Given the description of an element on the screen output the (x, y) to click on. 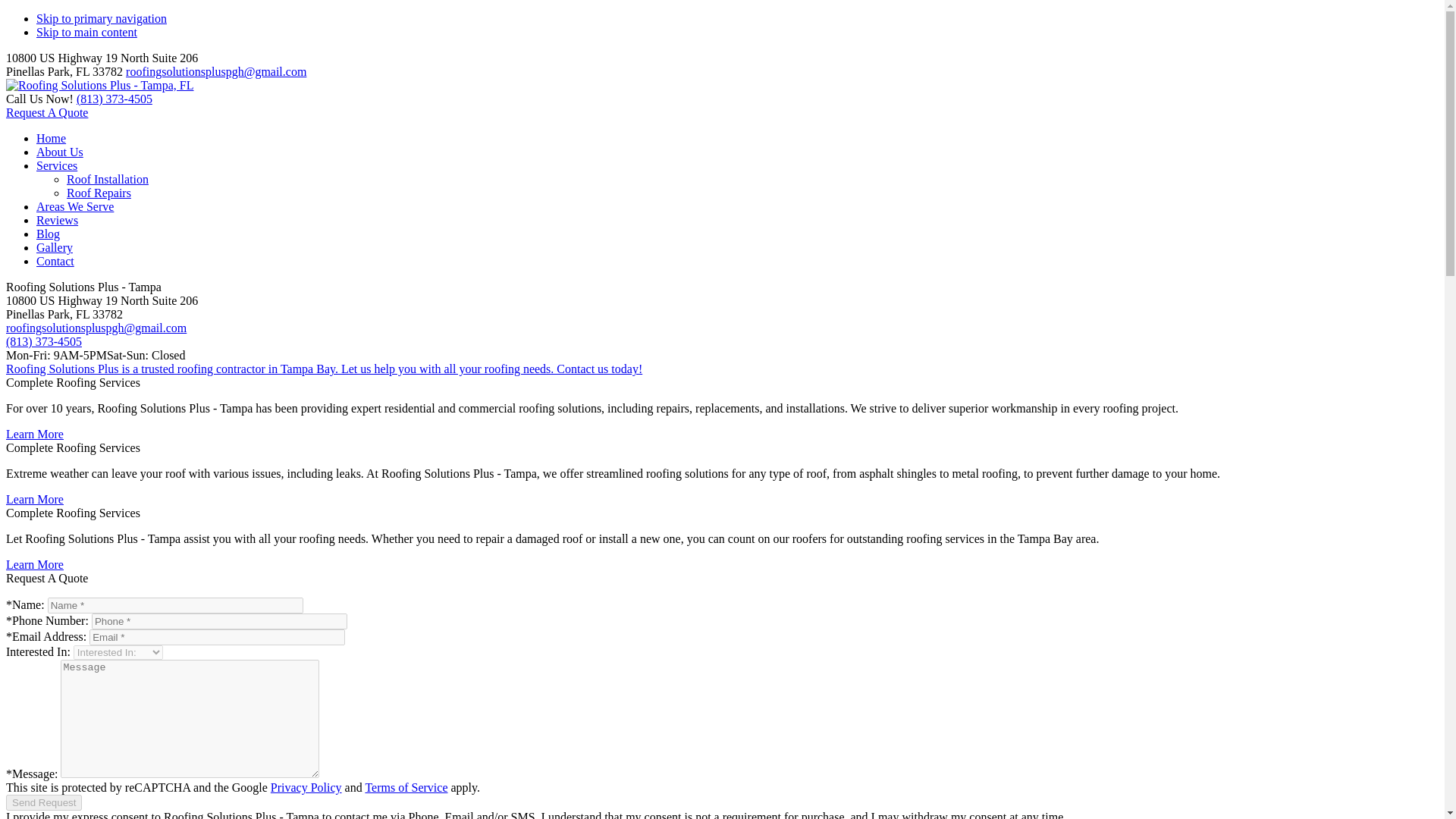
Blog (47, 233)
Learn More (34, 499)
Request A Quote (46, 112)
Areas We Serve (74, 205)
Roofing Solutions Plus - Tampa (99, 85)
Terms of Service (405, 787)
Services (56, 164)
Learn More (34, 563)
Skip to primary navigation (101, 18)
Reviews (57, 219)
Skip to main content (86, 31)
Contact (55, 260)
Roof Installation (107, 178)
About Us (59, 151)
